Given the description of an element on the screen output the (x, y) to click on. 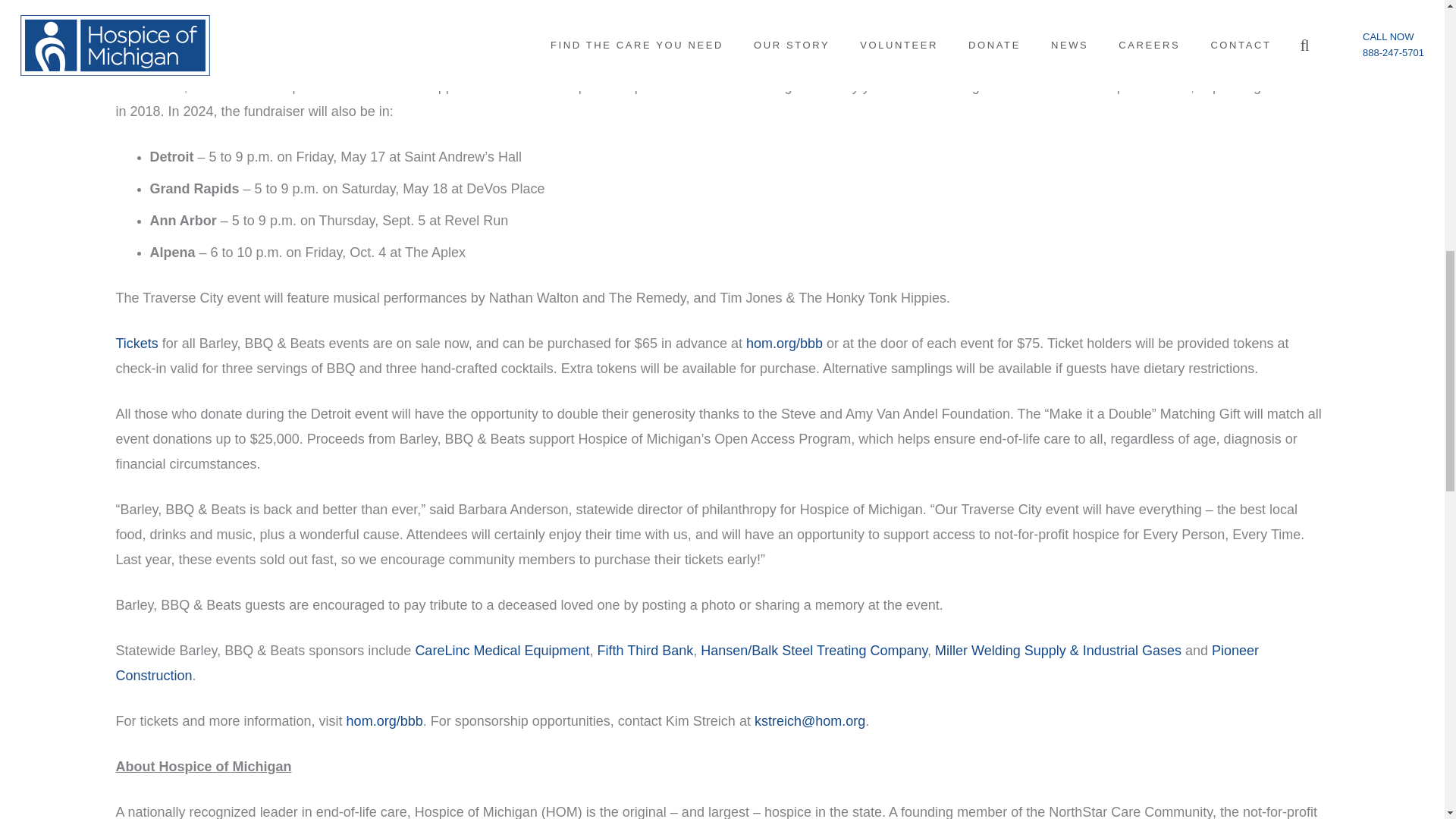
Back to top (30, 26)
